Given the description of an element on the screen output the (x, y) to click on. 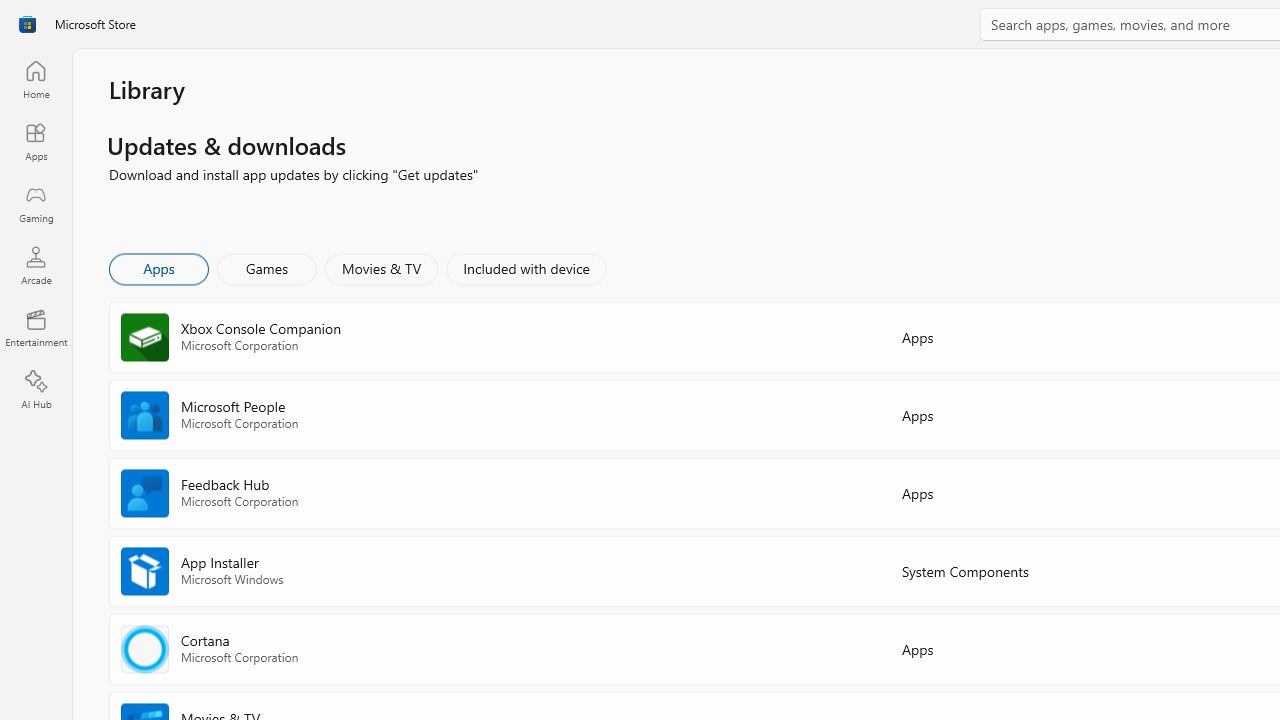
Home (35, 79)
Apps (158, 268)
Entertainment (35, 327)
Games (267, 268)
Included with device (525, 268)
AI Hub (35, 390)
Gaming (35, 203)
Class: Image (27, 24)
Apps (35, 141)
Movies & TV (381, 268)
Arcade (35, 265)
